Given the description of an element on the screen output the (x, y) to click on. 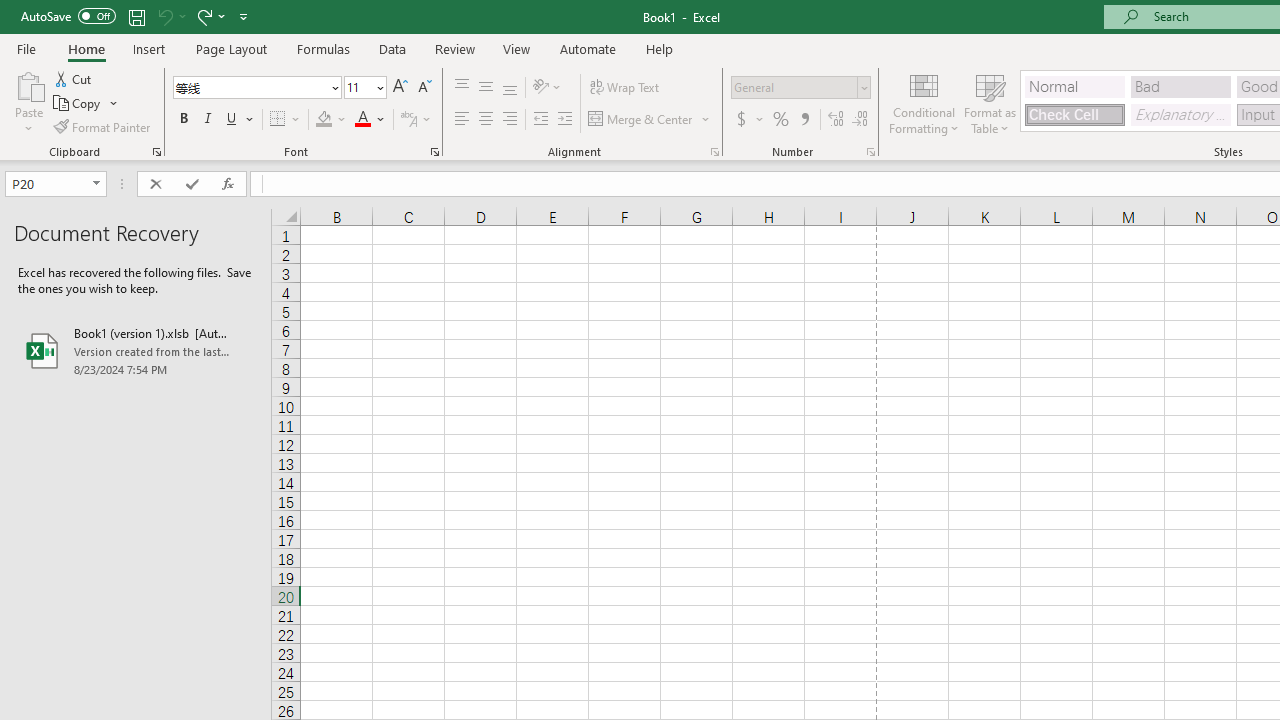
Show Phonetic Field (416, 119)
Comma Style (804, 119)
Formulas (323, 48)
Wrap Text (624, 87)
System (10, 11)
Explanatory Text (1180, 114)
Accounting Number Format (749, 119)
Orientation (547, 87)
Increase Indent (565, 119)
Copy (78, 103)
Normal (1074, 86)
Book1 (version 1).xlsb  [AutoRecovered] (136, 350)
Font Size (365, 87)
Italic (207, 119)
Check Cell (1074, 114)
